Given the description of an element on the screen output the (x, y) to click on. 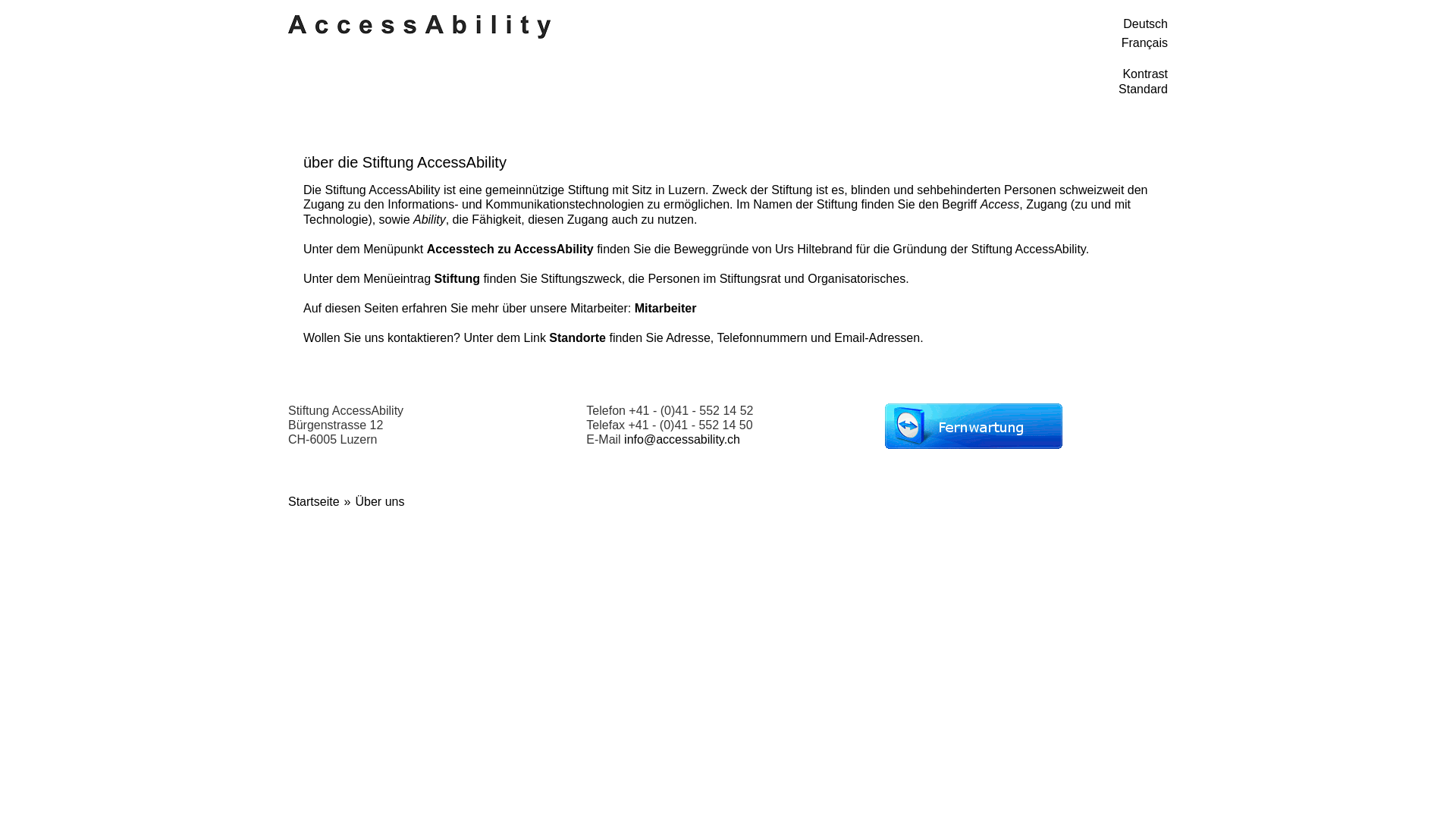
Deutsch Element type: text (951, 23)
Standard Element type: text (1142, 89)
info@accessability.ch Element type: text (682, 439)
Mitarbeiter Element type: text (665, 307)
Startseite Element type: hover (425, 26)
Accesstech zu AccessAbility Element type: text (509, 248)
Kontrast Element type: text (1144, 73)
Startseite Element type: text (313, 501)
Stiftung Element type: text (457, 278)
Standorte Element type: text (577, 337)
